Given the description of an element on the screen output the (x, y) to click on. 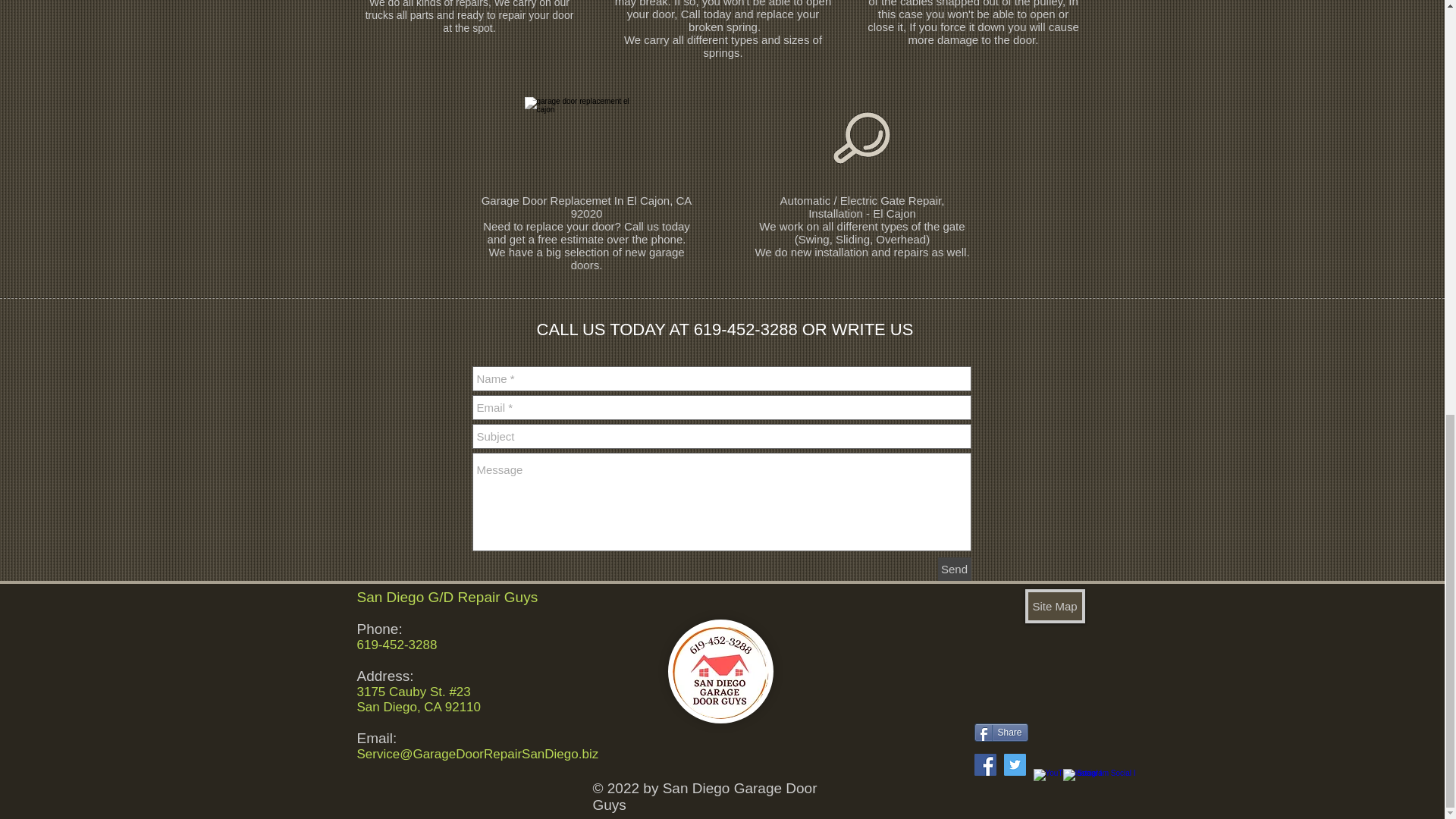
Garage Door Replacement in El Cajun CA (585, 143)
Site Map (1054, 605)
Logo - San Diego Garage Door Guys (719, 671)
Send (954, 568)
Share (1000, 732)
Facebook Like (1065, 726)
VK Share (1015, 709)
Share (1000, 732)
Garage Door Replacemet (546, 200)
